Given the description of an element on the screen output the (x, y) to click on. 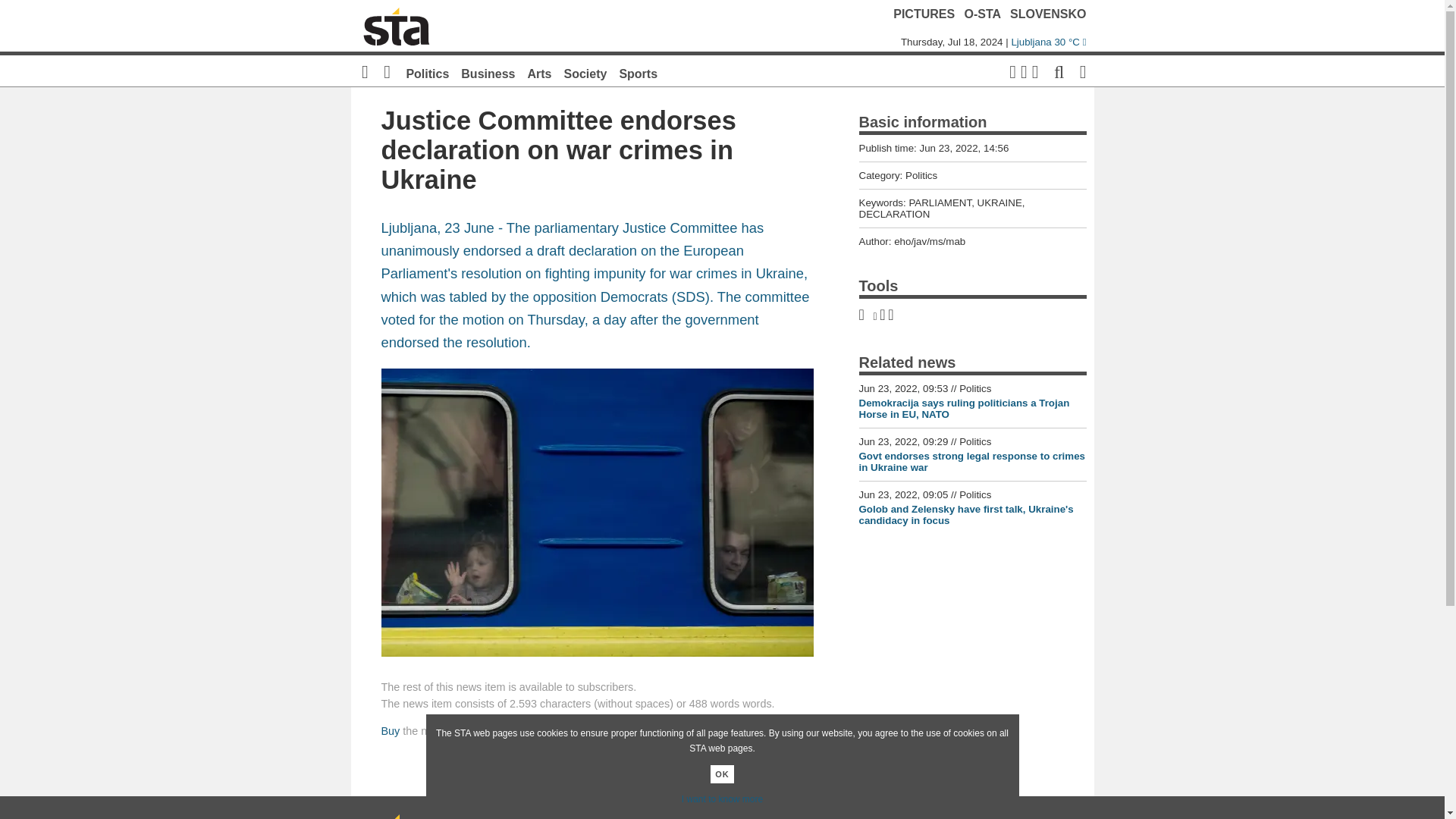
Buy (389, 730)
O-STA (982, 13)
SLOVENSKO (1048, 13)
PICTURES (924, 13)
Business (488, 73)
Arts (539, 73)
Society (585, 73)
Politics (427, 73)
Sports (638, 73)
Govt endorses strong legal response to crimes in Ukraine war (971, 461)
